Given the description of an element on the screen output the (x, y) to click on. 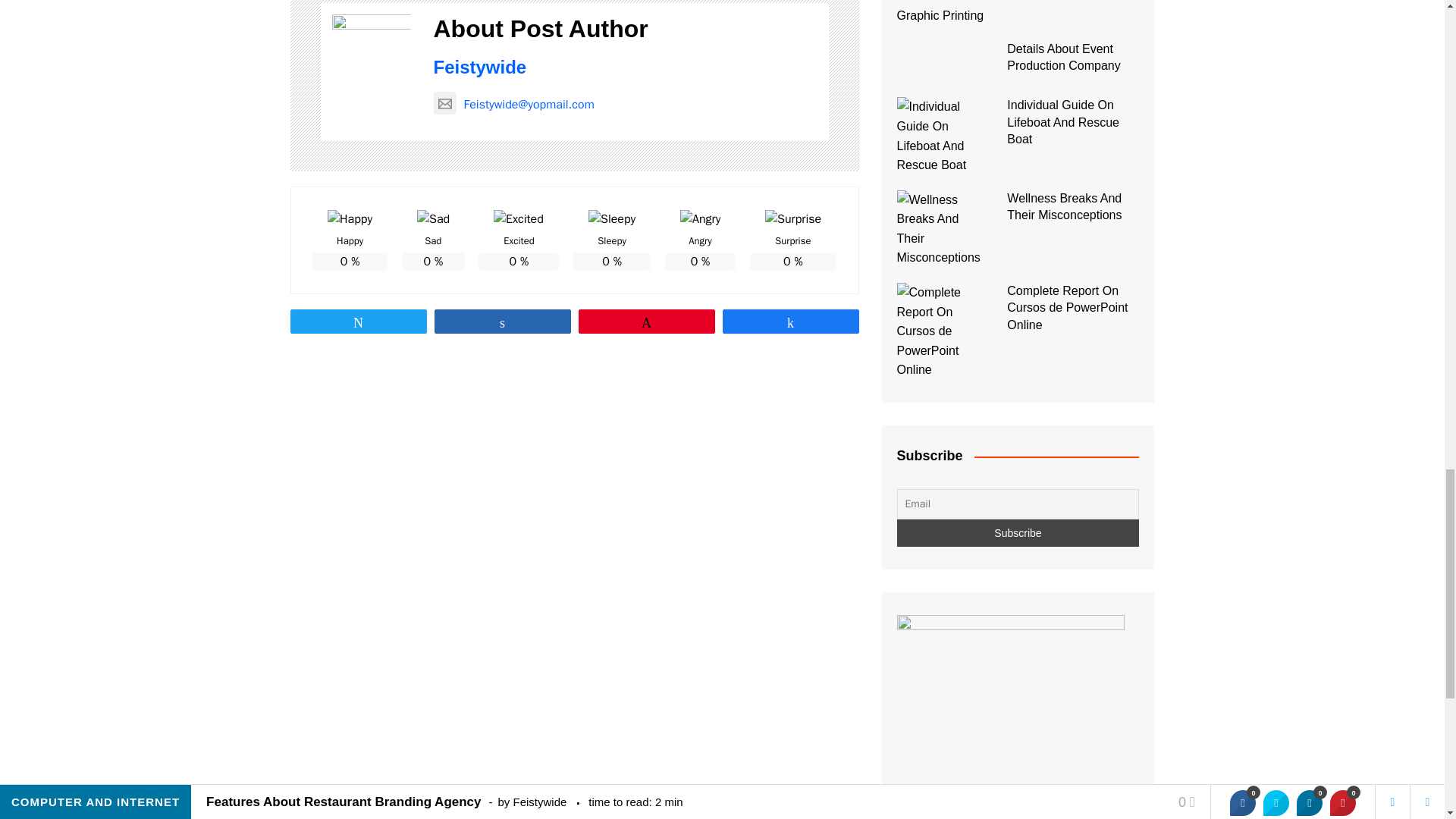
Subscribe (1017, 533)
Feistywide (480, 66)
